Given the description of an element on the screen output the (x, y) to click on. 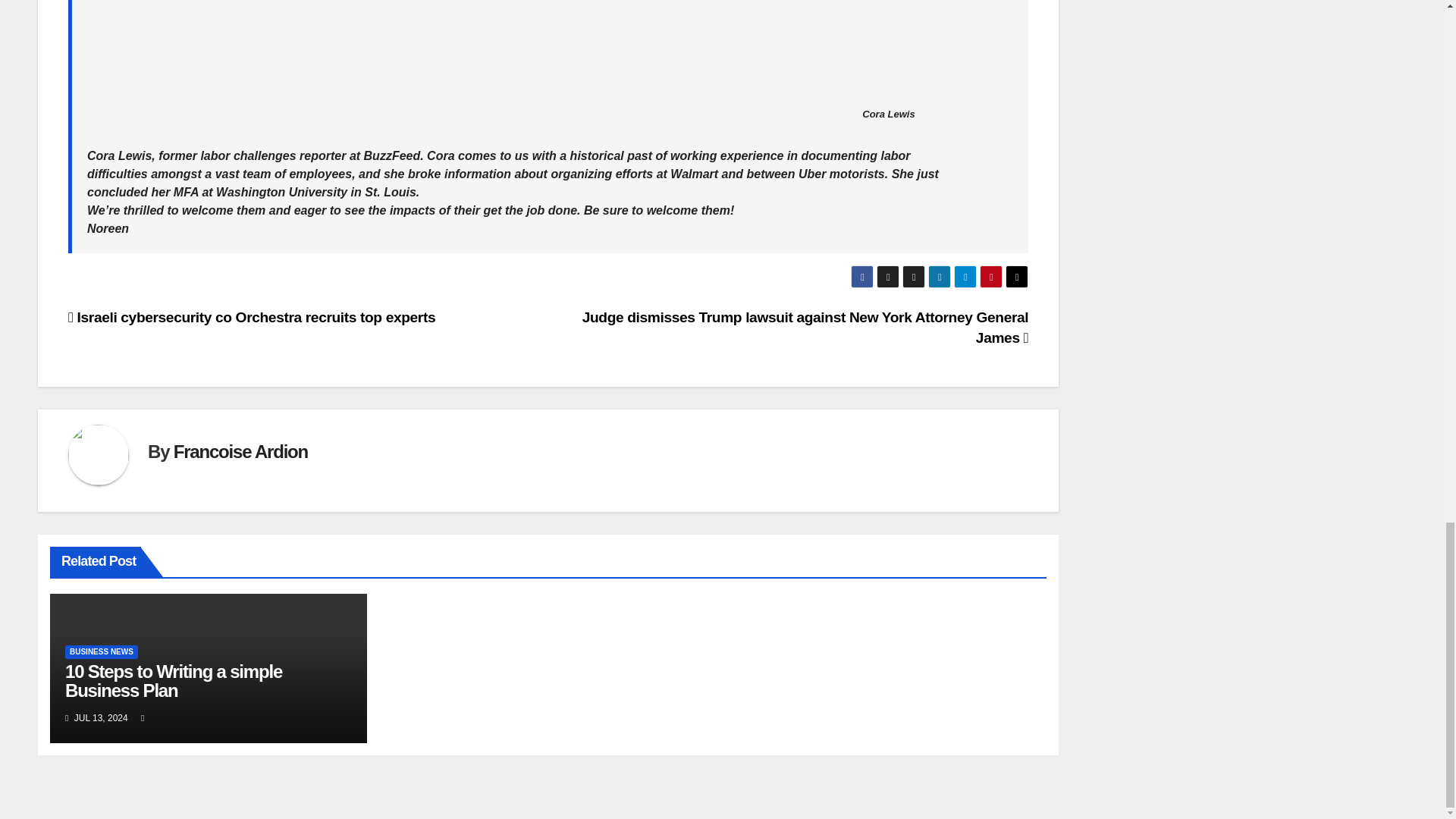
Permalink to: 10 Steps to Writing a simple Business Plan (173, 680)
